Given the description of an element on the screen output the (x, y) to click on. 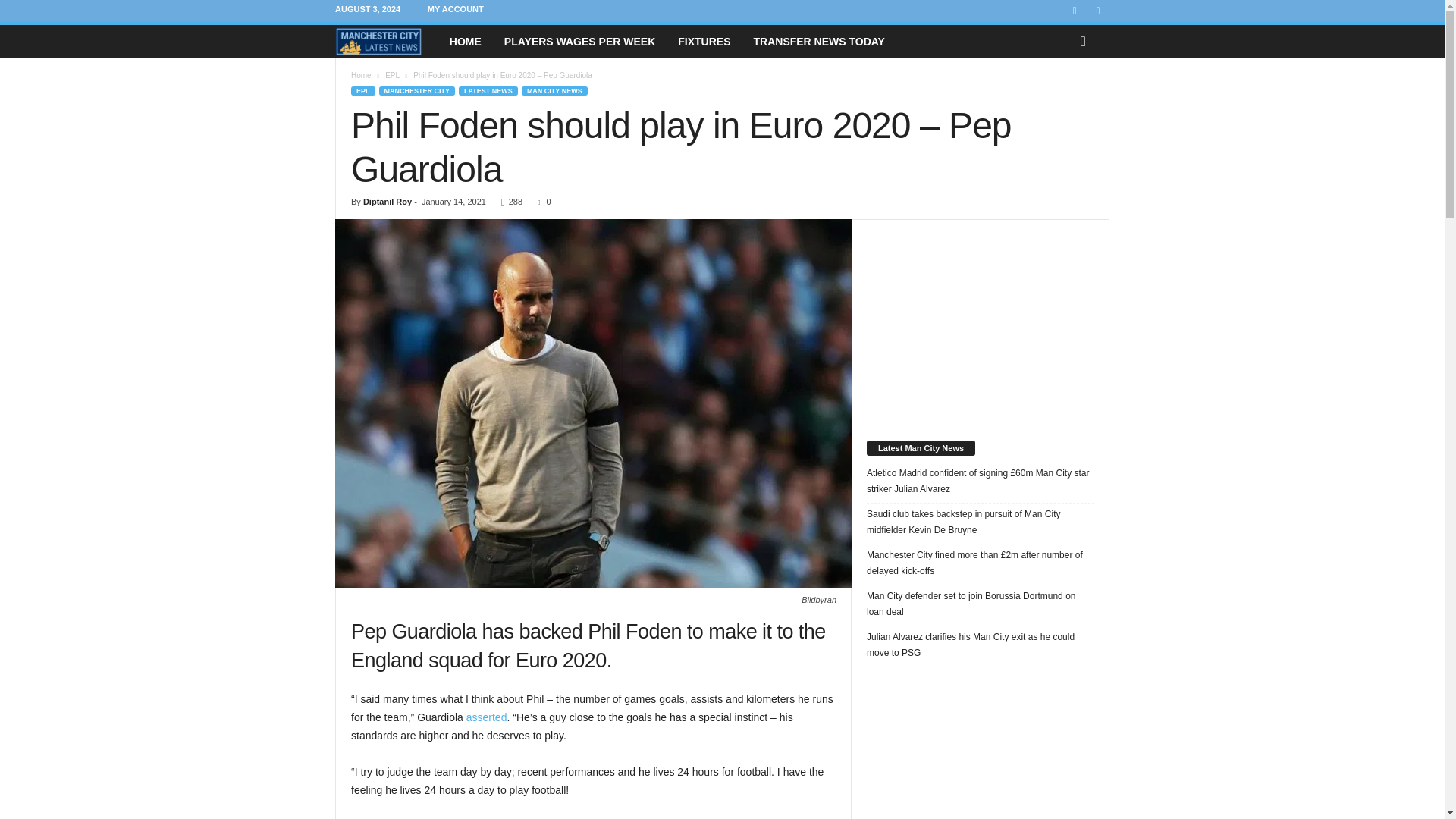
Diptanil Roy (387, 201)
View all posts in EPL (391, 75)
LATEST NEWS (488, 90)
Manchester City Latest News.com (386, 41)
MANCHESTER CITY (416, 90)
EPL (362, 90)
FIXTURES (703, 41)
Manchester City Latest News Now Today Morning (378, 41)
HOME (465, 41)
TRANSFER NEWS TODAY (818, 41)
asserted (485, 717)
0 (540, 201)
MAN CITY NEWS (554, 90)
PLAYERS WAGES PER WEEK (579, 41)
